Given the description of an element on the screen output the (x, y) to click on. 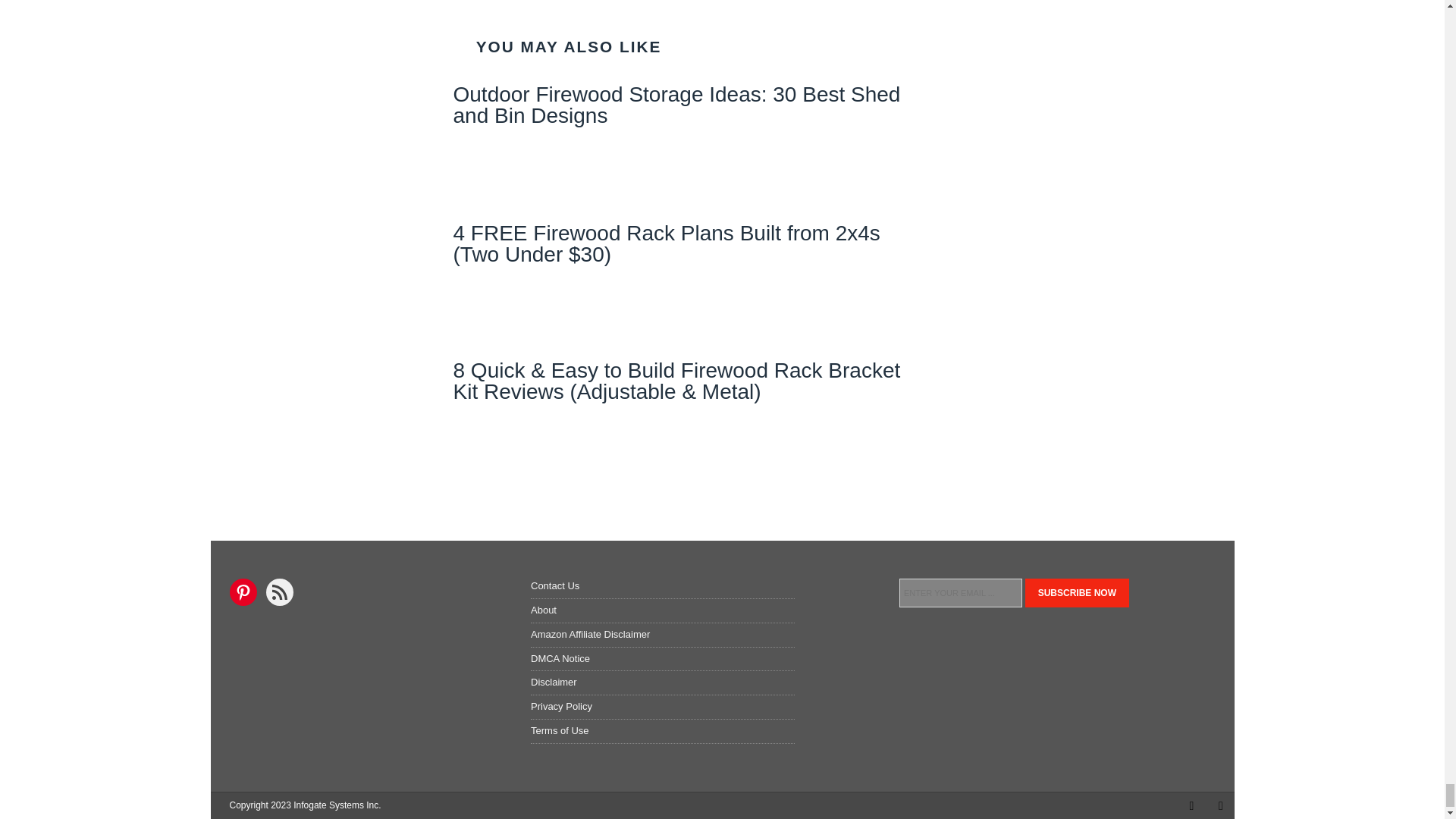
Subscribe Now (1077, 592)
